Given the description of an element on the screen output the (x, y) to click on. 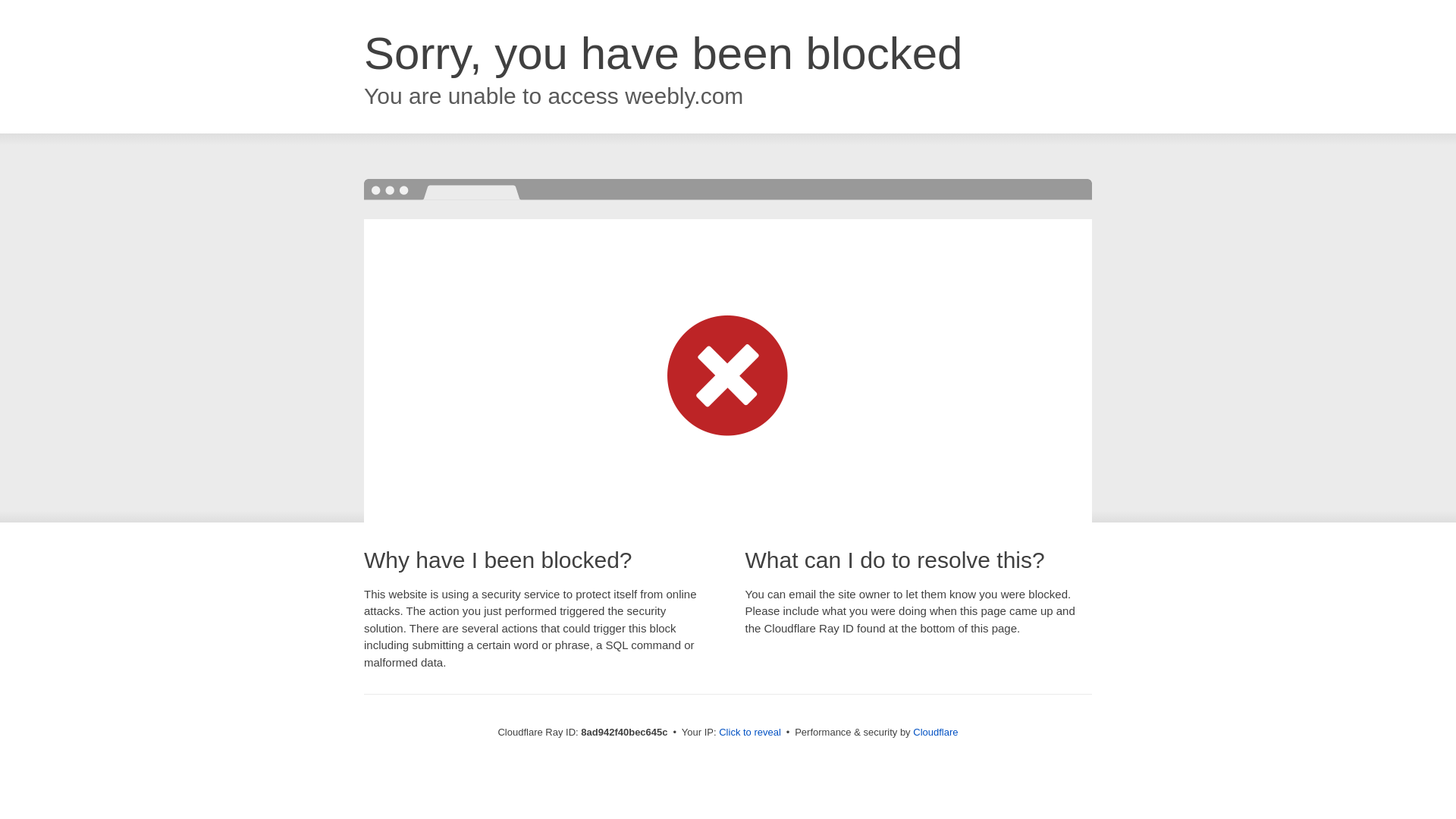
Cloudflare (935, 731)
Click to reveal (749, 732)
